Given the description of an element on the screen output the (x, y) to click on. 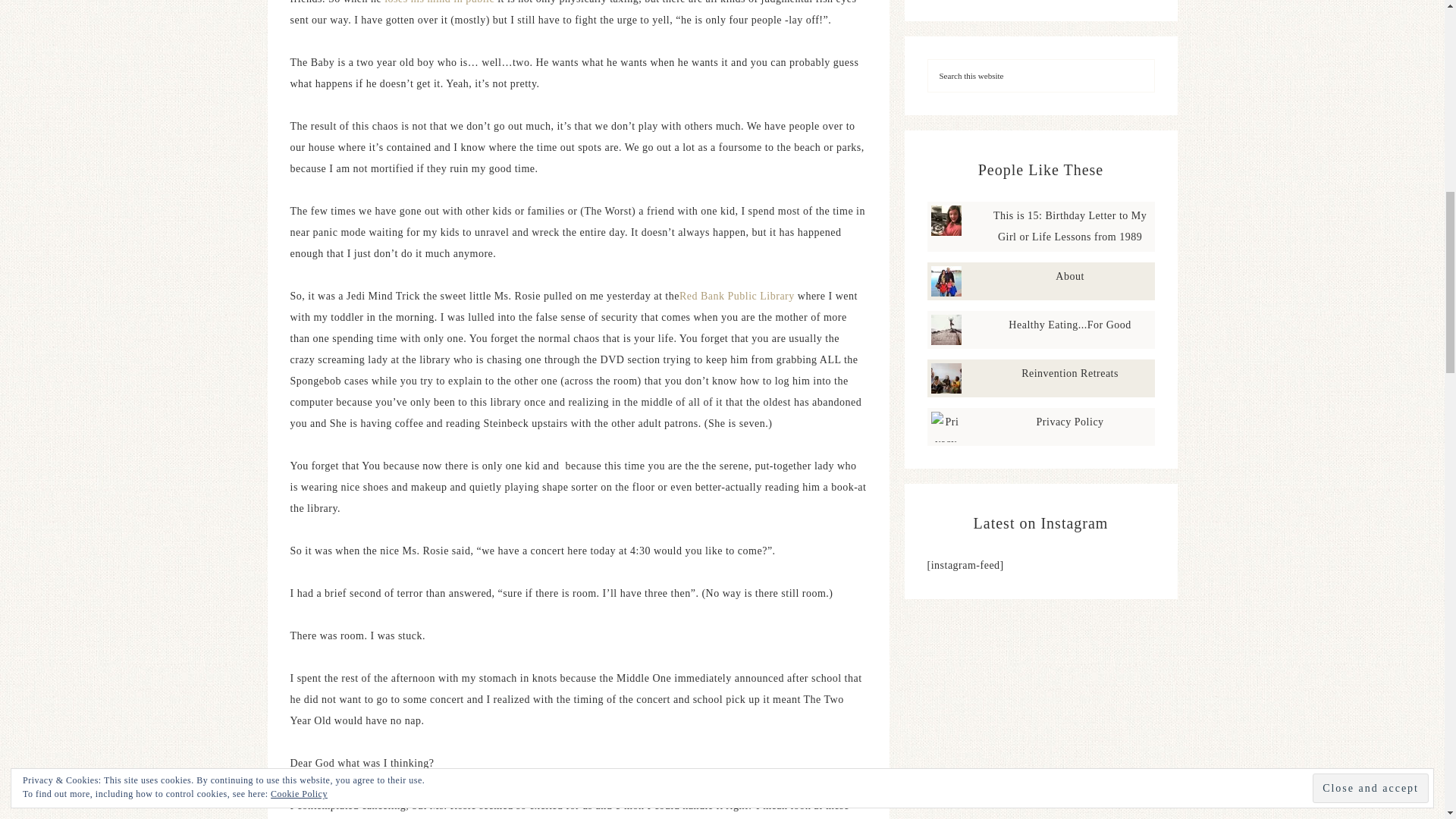
Reinvention Retreats (1070, 373)
Healthy Eating...For Good (1070, 324)
About (1069, 276)
Privacy Policy (1069, 421)
Red Bank Public Library (736, 296)
loses his mind in public (439, 2)
